Given the description of an element on the screen output the (x, y) to click on. 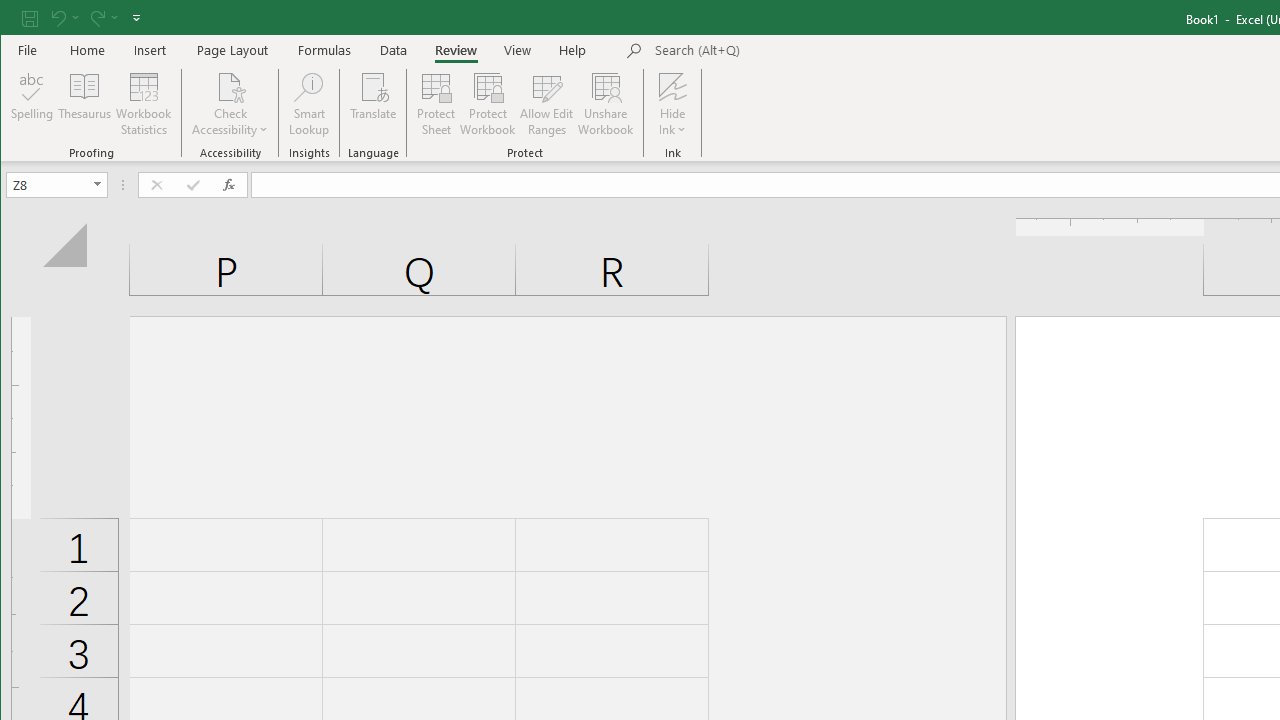
Translate (373, 104)
Workbook Statistics (143, 104)
Unshare Workbook (606, 104)
Allow Edit Ranges (547, 104)
Smart Lookup (308, 104)
